Given the description of an element on the screen output the (x, y) to click on. 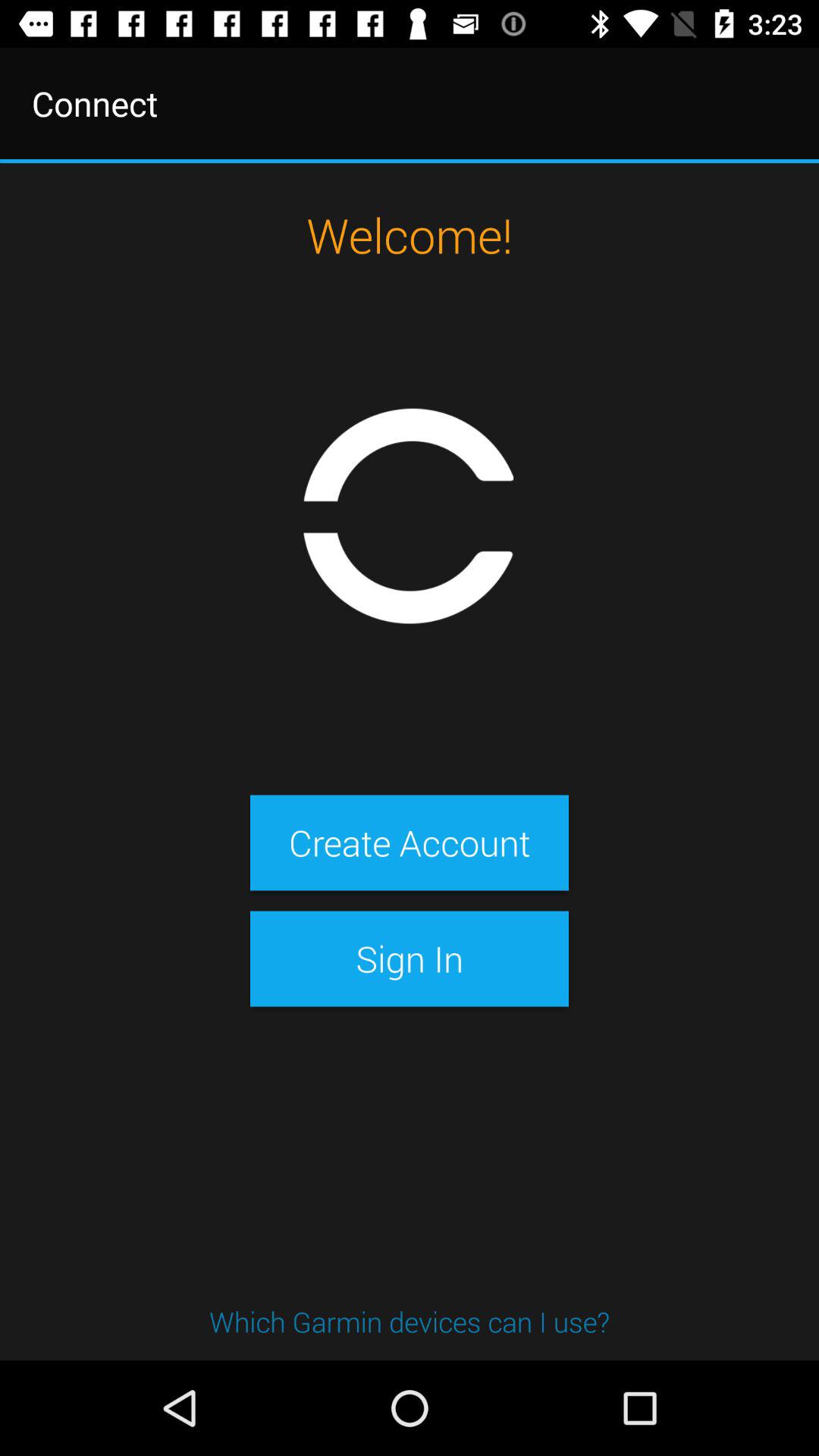
open icon below sign in item (409, 1321)
